Given the description of an element on the screen output the (x, y) to click on. 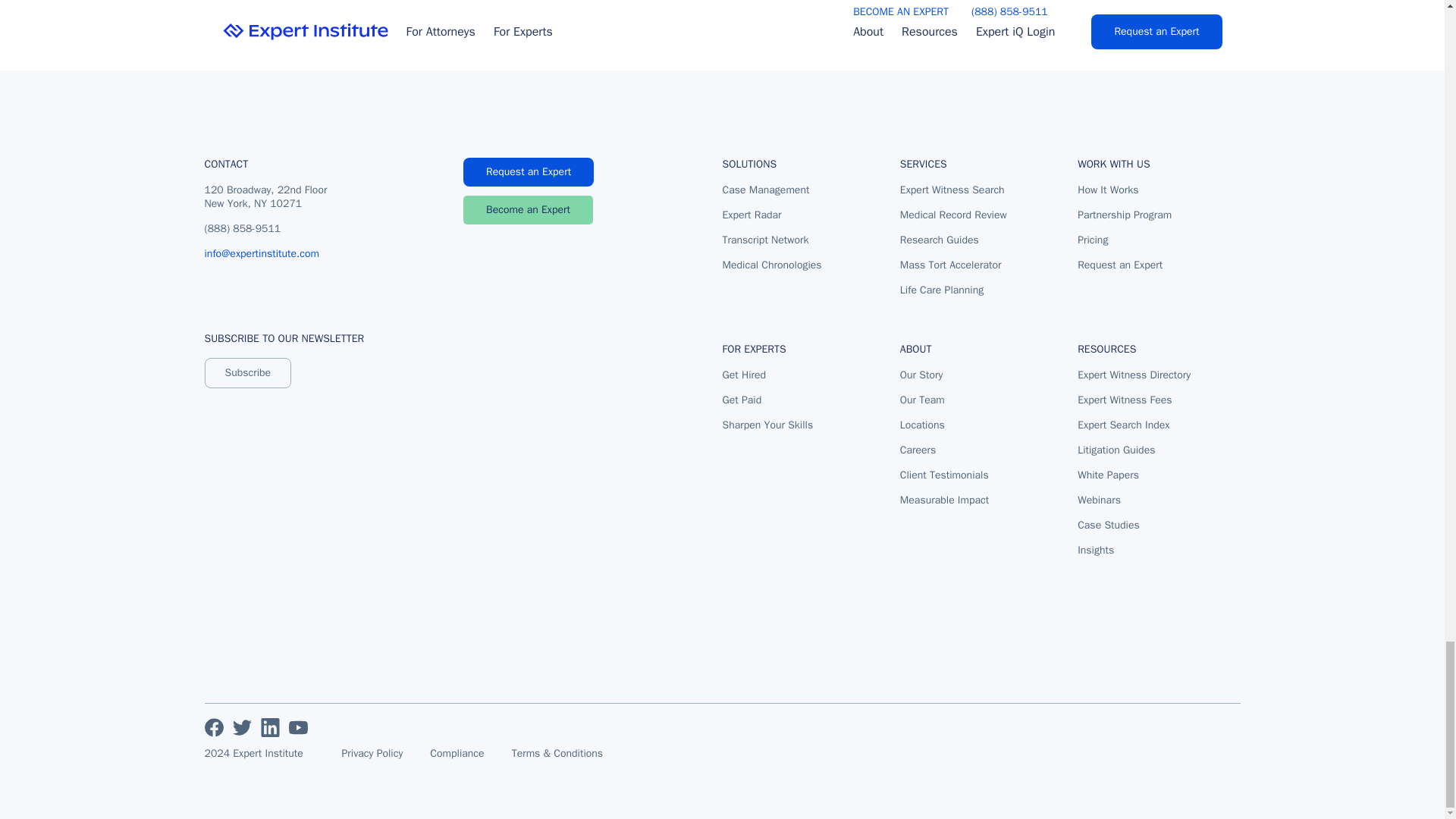
Become an Expert (527, 209)
Medical Chronologies (771, 264)
Case Management (771, 190)
Expert Radar (771, 214)
Request an Expert (528, 172)
Transcript Network (771, 240)
Subscribe (248, 372)
